Given the description of an element on the screen output the (x, y) to click on. 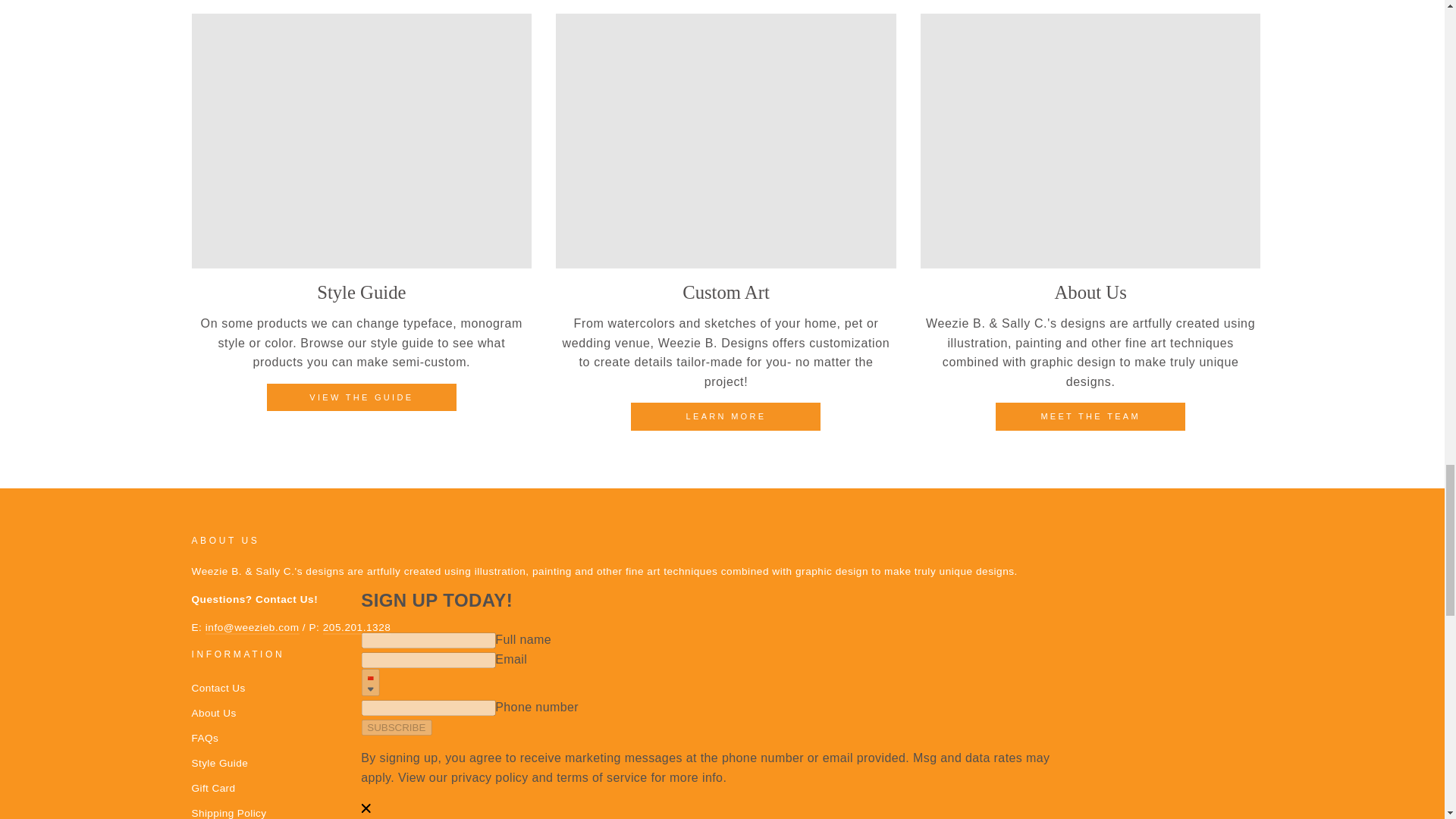
tel:205.201.1328 (357, 627)
